Given the description of an element on the screen output the (x, y) to click on. 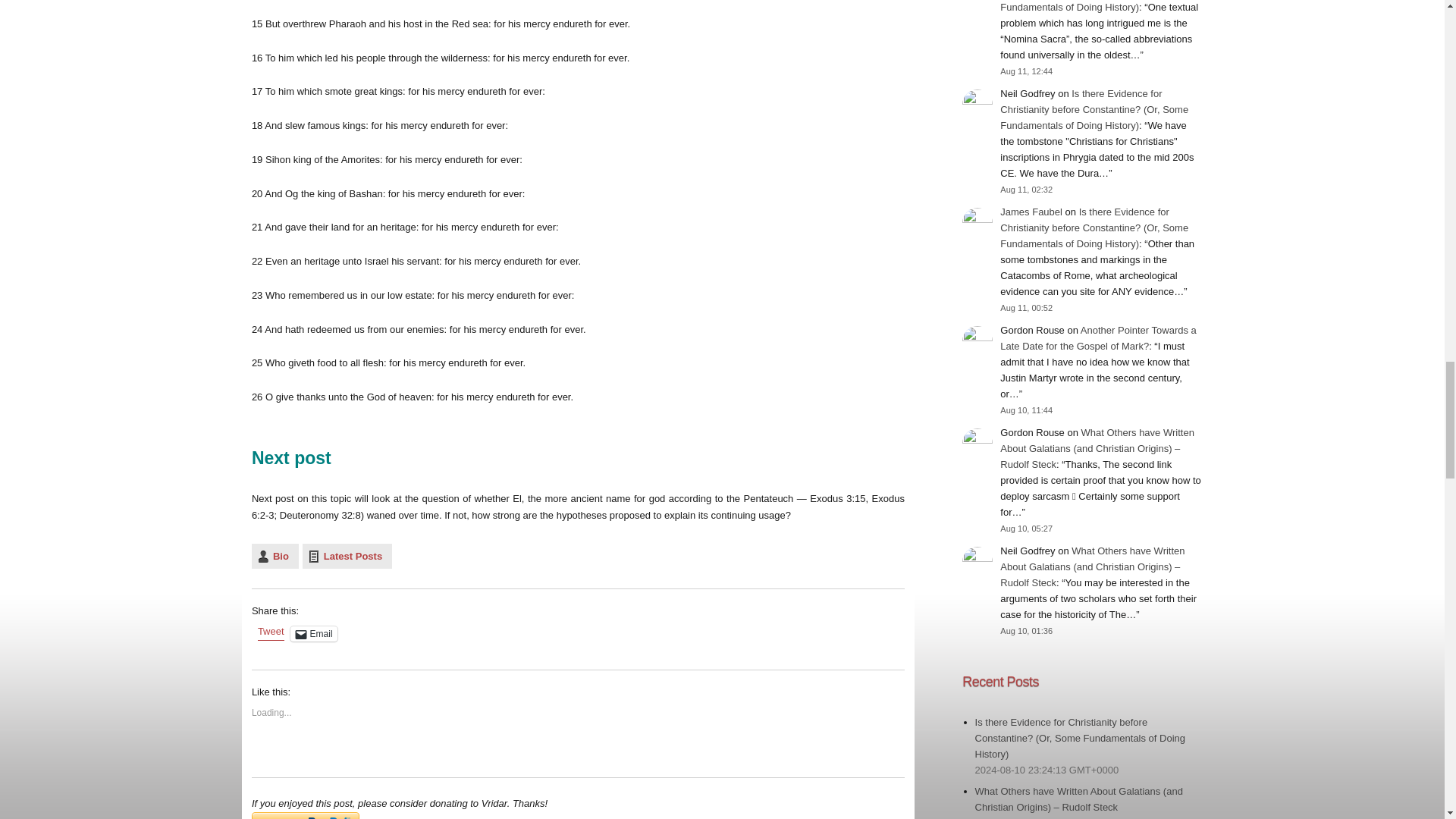
Latest Posts (346, 555)
Bio (274, 555)
Click to email a link to a friend (313, 633)
Email (313, 633)
Tweet (270, 632)
